Given the description of an element on the screen output the (x, y) to click on. 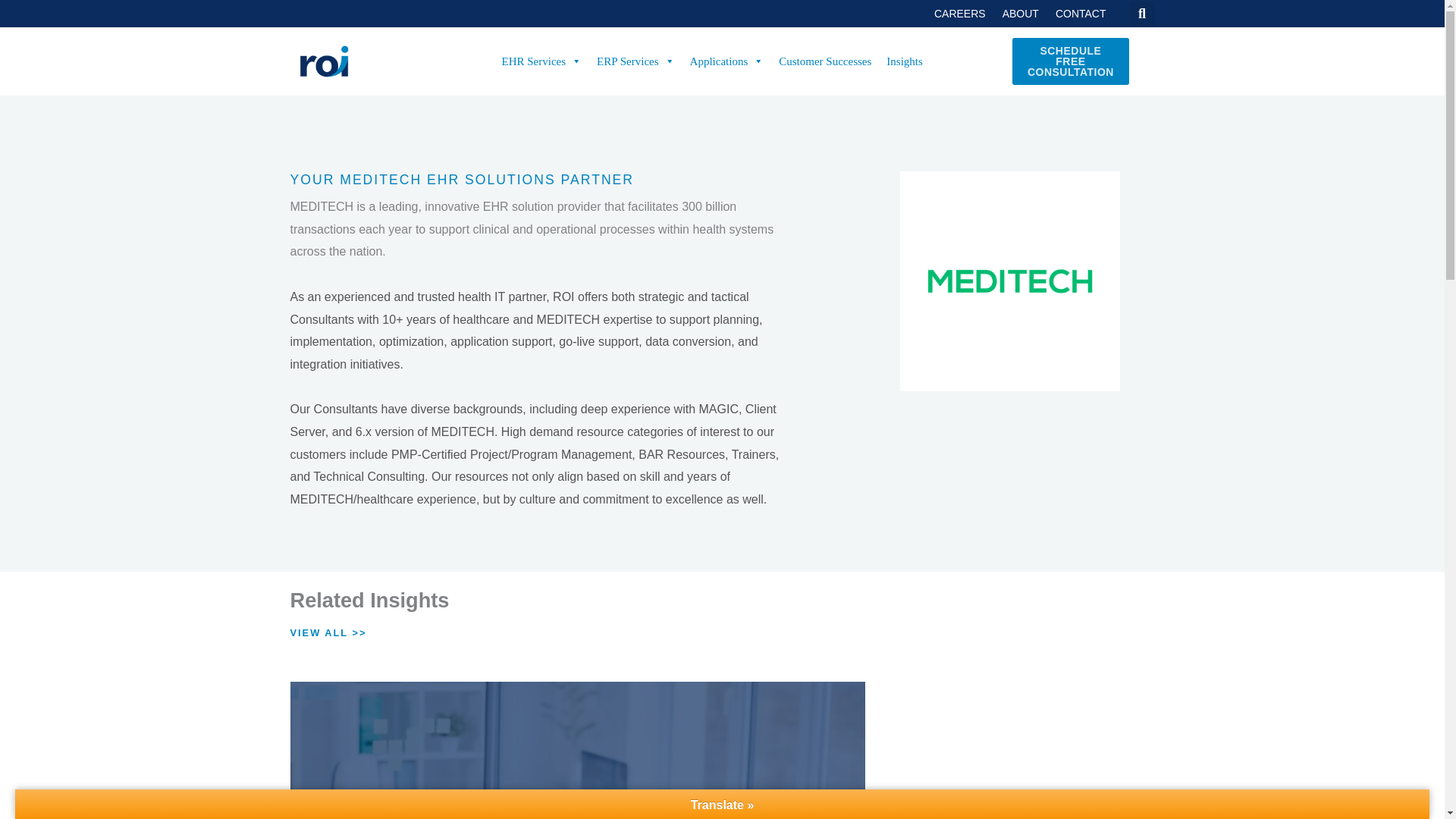
CONTACT (1080, 15)
EHR Services (542, 61)
ABOUT (1020, 15)
ERP Services (635, 61)
CAREERS (960, 15)
